Given the description of an element on the screen output the (x, y) to click on. 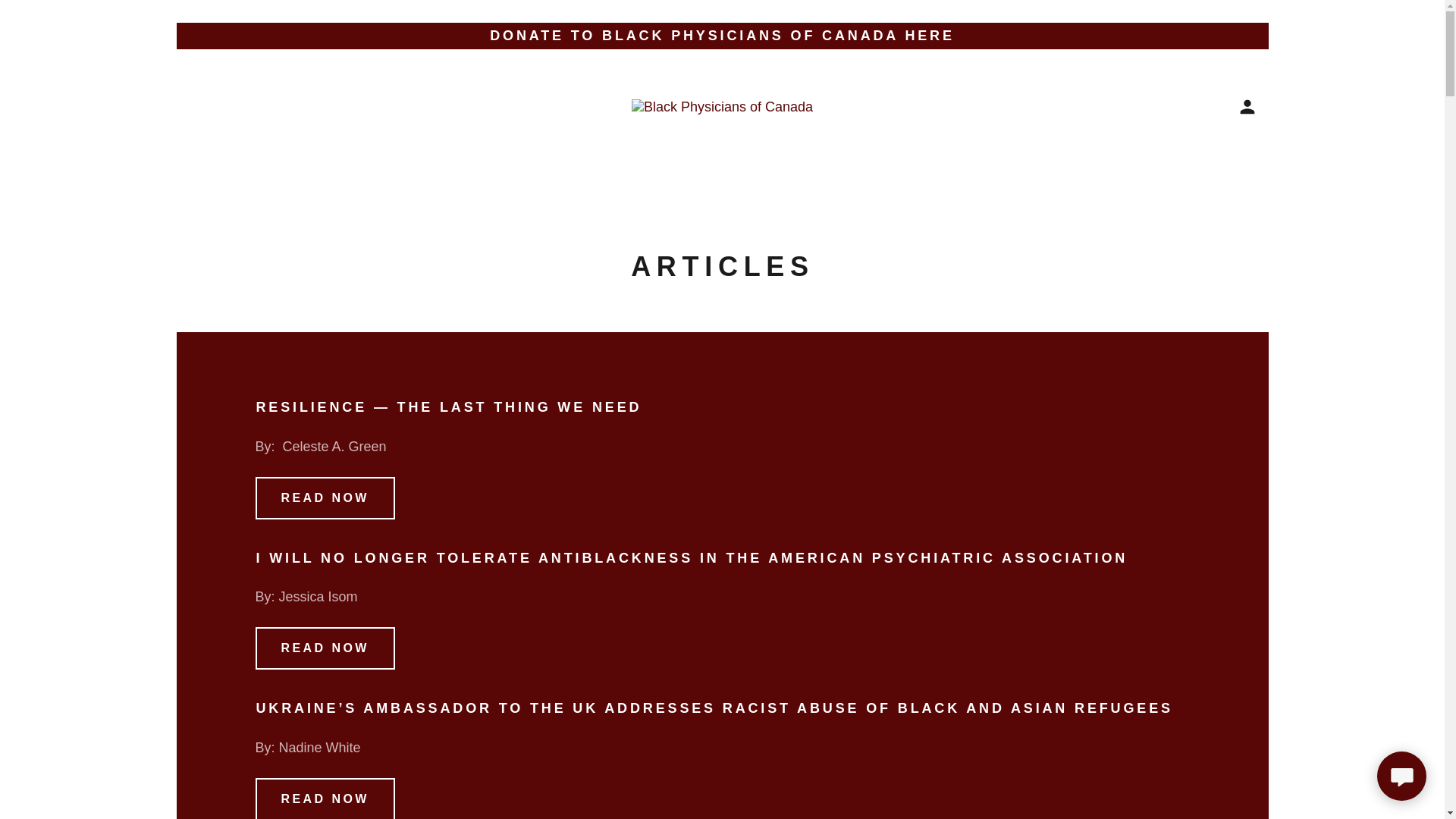
READ NOW Element type: text (324, 497)
Black Physicians of Canada Element type: hover (721, 105)
DONATE TO BLACK PHYSICIANS OF CANADA HERE Element type: text (721, 35)
READ NOW Element type: text (324, 648)
